Given the description of an element on the screen output the (x, y) to click on. 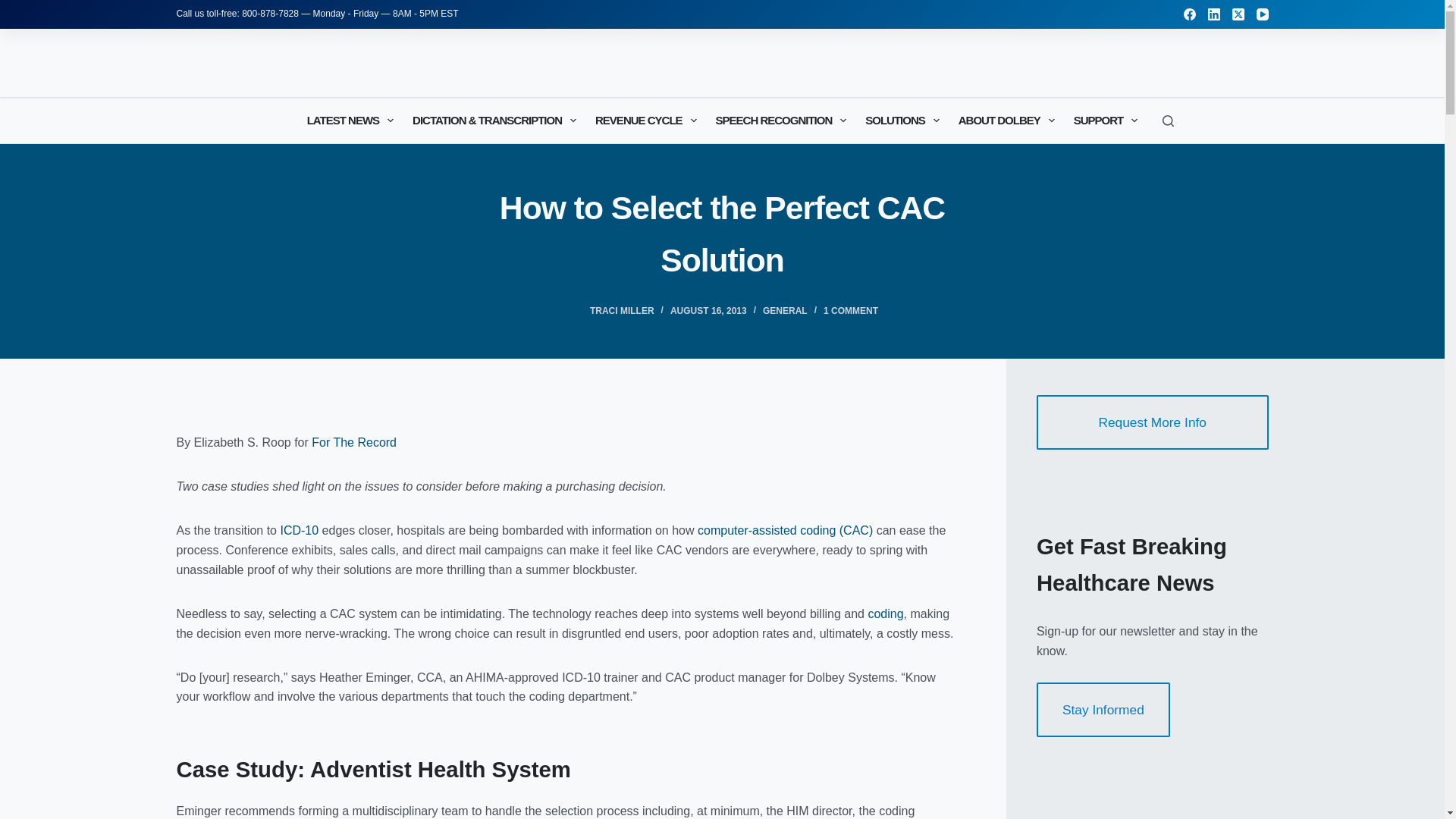
Original Article in For The Record (353, 441)
Skip to content (15, 7)
How to Select the Perfect CAC Solution (722, 233)
Fusion CAC (784, 530)
Posts by Traci Miller (621, 310)
